Given the description of an element on the screen output the (x, y) to click on. 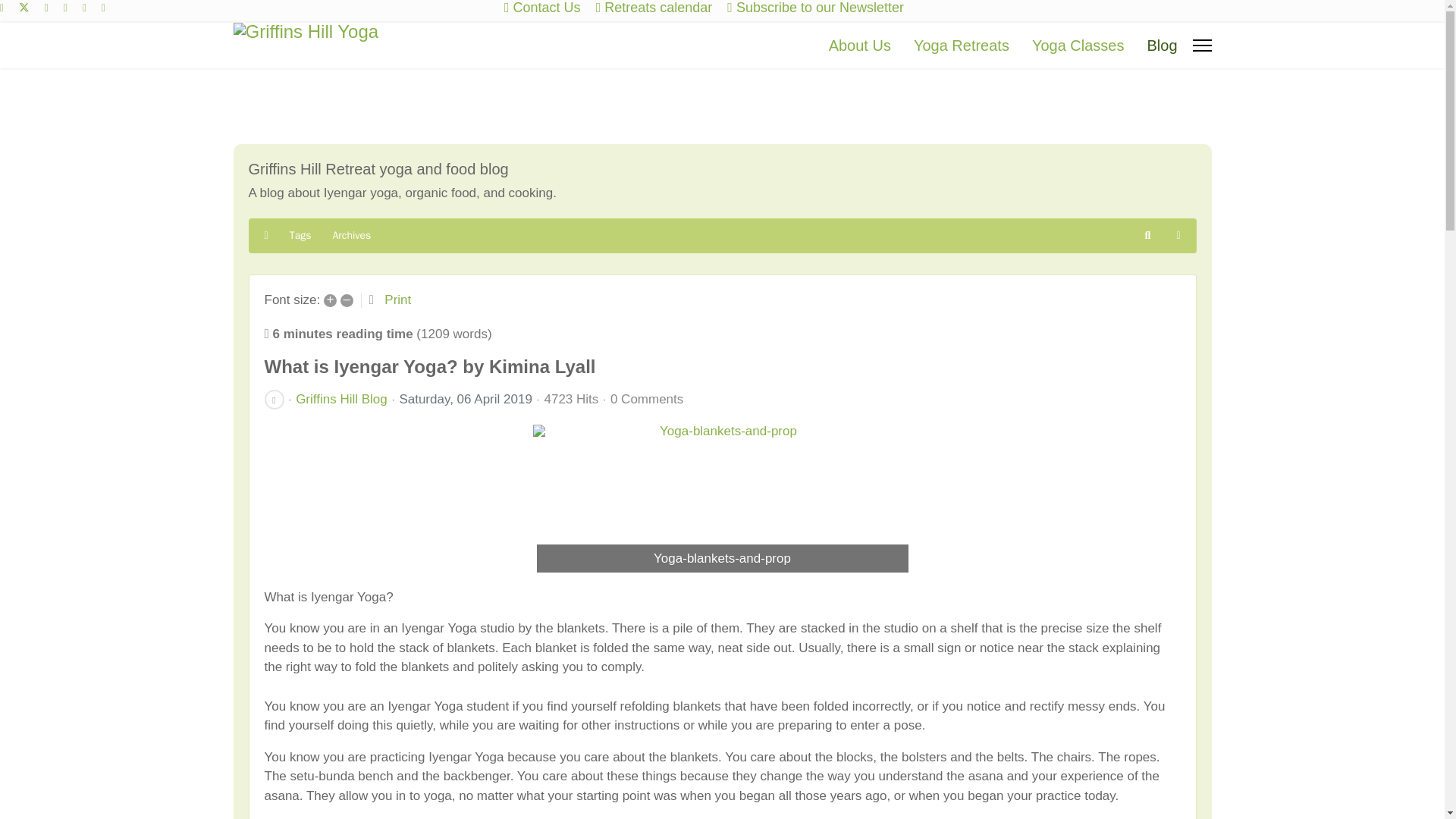
Archives (350, 235)
Tags (300, 235)
Tags (300, 235)
Retreats calendar (657, 7)
0 Comments (646, 399)
Yoga Retreats (961, 44)
Print (397, 299)
Contact Us (546, 7)
Search (1147, 235)
Griffins Hill Blog (341, 399)
Yoga-blankets-and-prop (721, 500)
Subscribe to our Newsletter (820, 7)
Yoga Classes (1077, 44)
Yoga-blankets-and-props (721, 500)
Print (397, 299)
